Given the description of an element on the screen output the (x, y) to click on. 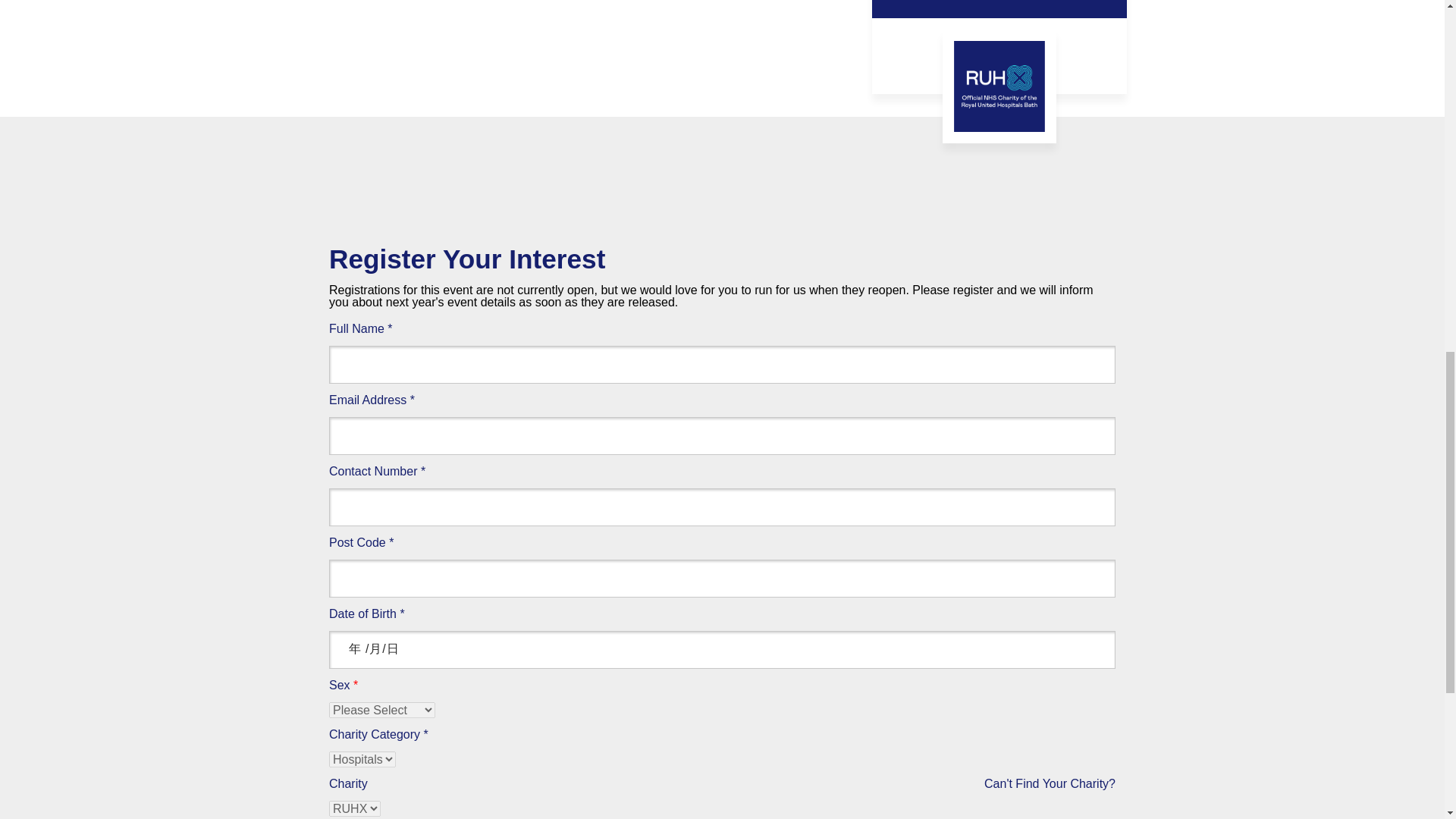
Can't Find Your Charity? (1049, 783)
